Given the description of an element on the screen output the (x, y) to click on. 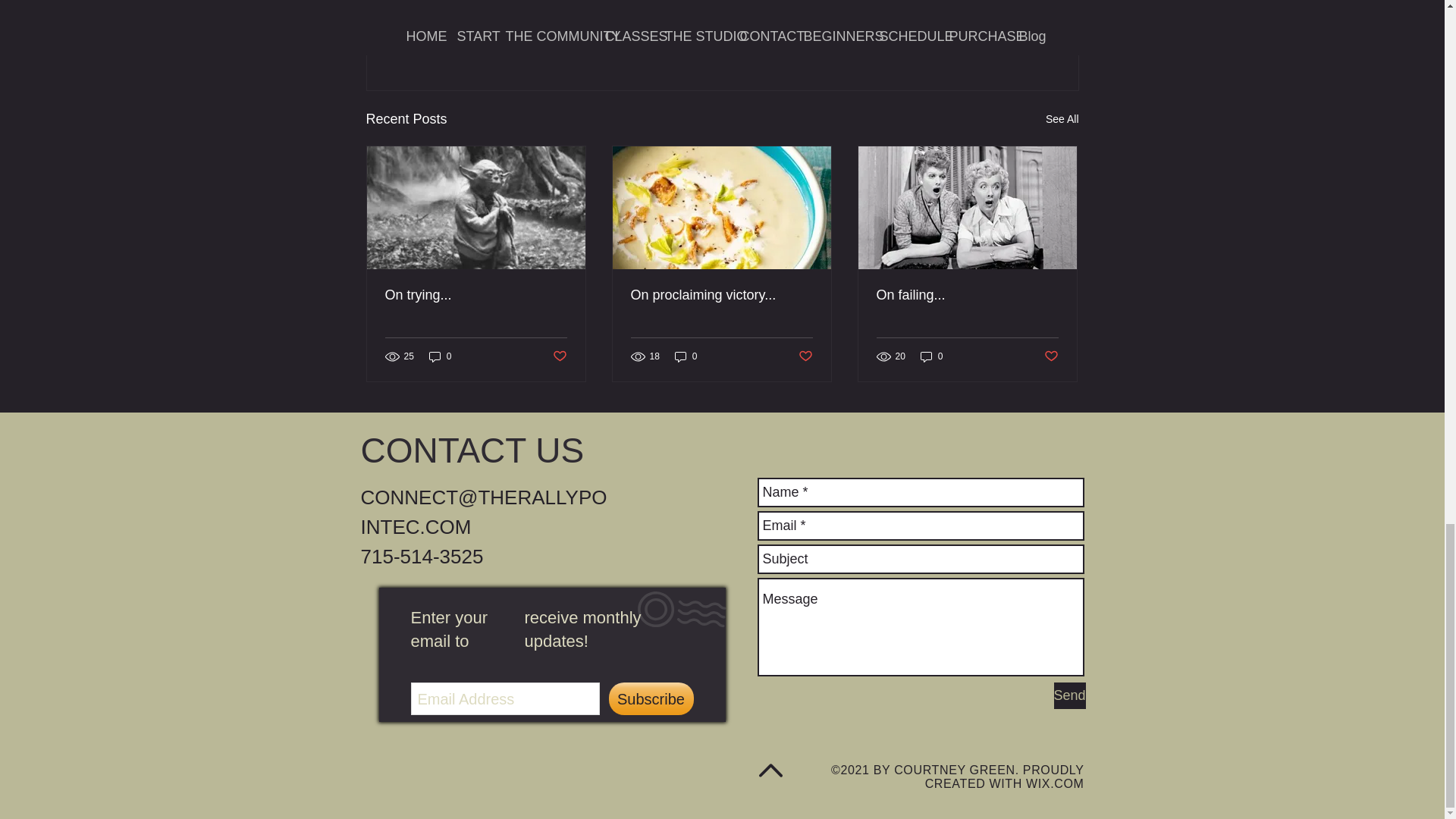
0 (931, 356)
WIX.COM (1054, 783)
0 (440, 356)
Post not marked as liked (558, 356)
Post not marked as liked (804, 356)
On proclaiming victory... (721, 295)
Post not marked as liked (1050, 356)
Send (1070, 695)
See All (1061, 119)
Subscribe (650, 698)
0 (685, 356)
On trying... (476, 295)
Post not marked as liked (995, 36)
On failing... (967, 295)
